Given the description of an element on the screen output the (x, y) to click on. 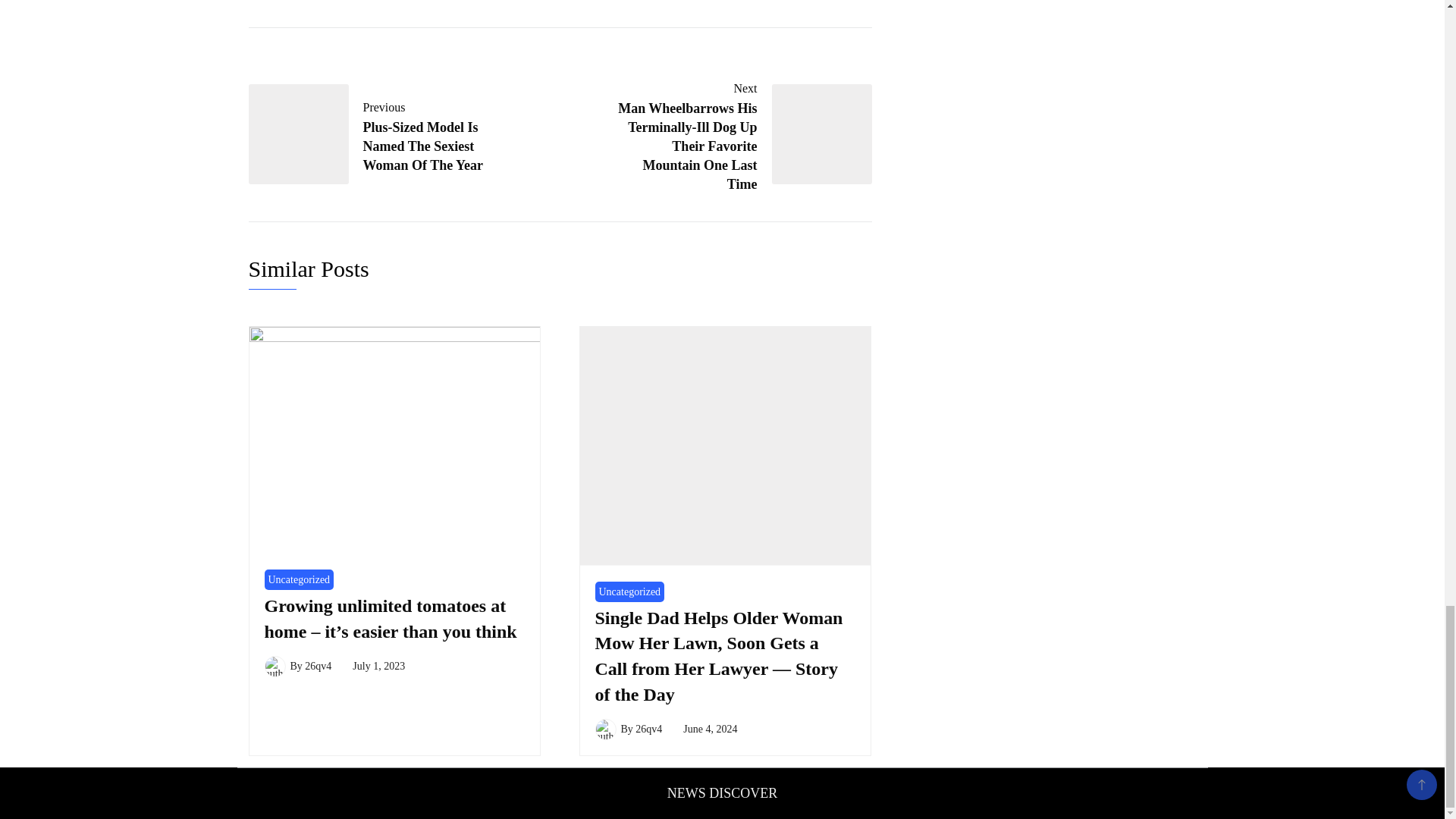
Uncategorized (298, 579)
NEWS DISCOVER (721, 792)
26qv4 (648, 728)
Uncategorized (628, 591)
26qv4 (317, 665)
June 4, 2024 (709, 728)
July 1, 2023 (378, 665)
